Given the description of an element on the screen output the (x, y) to click on. 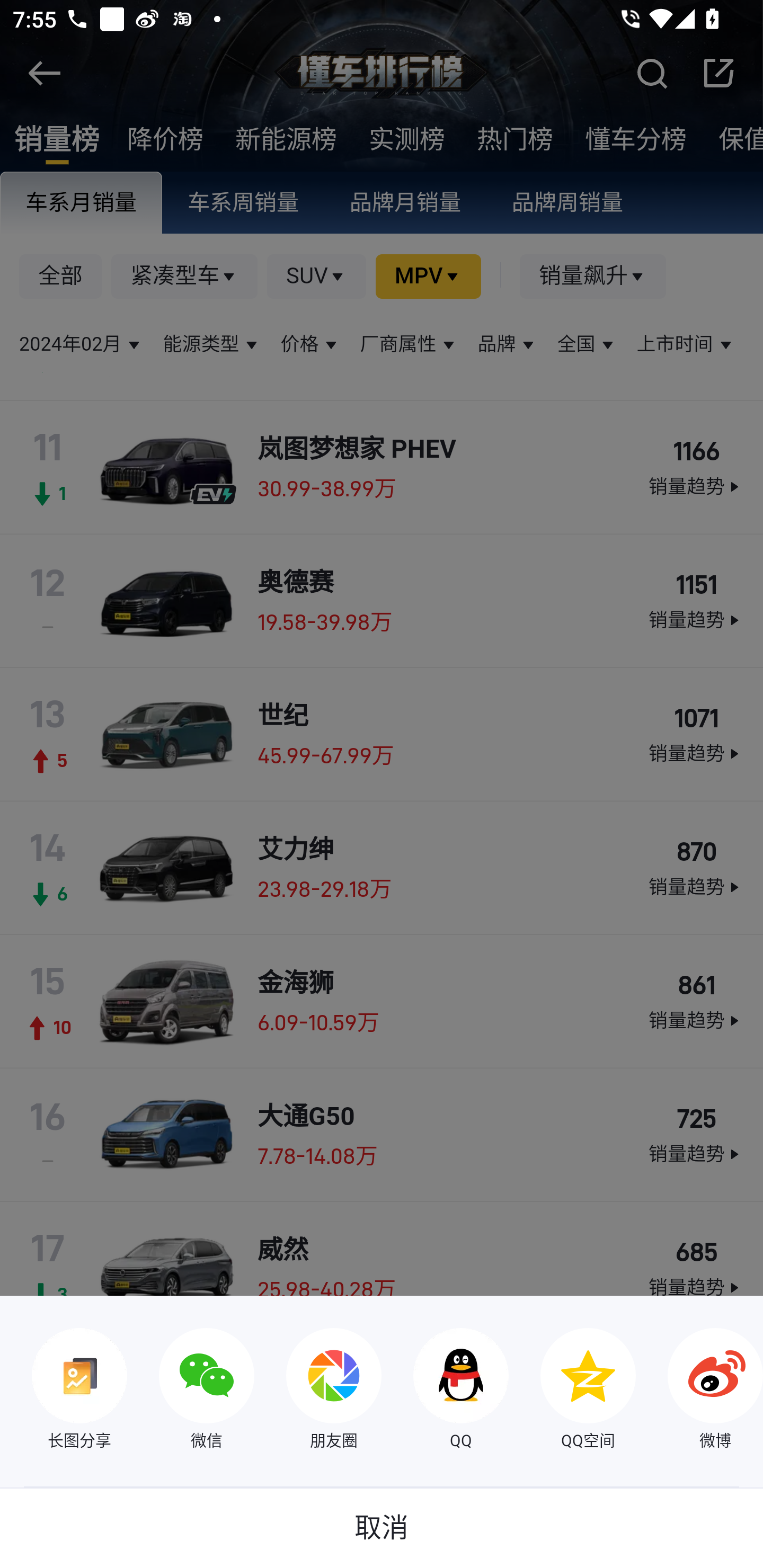
长图分享 (63, 1390)
微信 (190, 1390)
朋友圈 (317, 1390)
QQ (444, 1390)
QQ空间 (571, 1390)
微博 (699, 1390)
取消 (381, 1528)
